Given the description of an element on the screen output the (x, y) to click on. 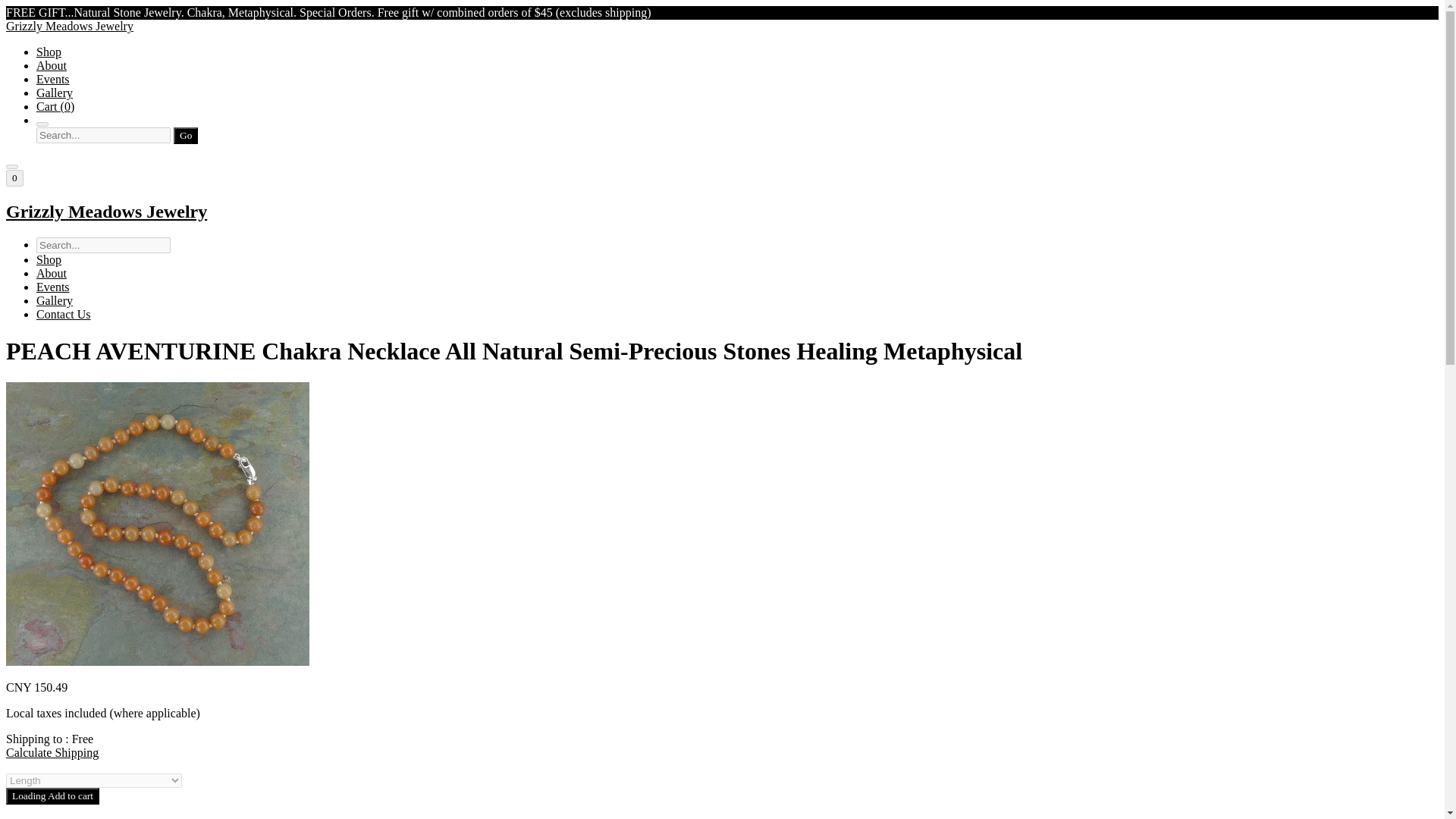
Shop (48, 51)
Shop (48, 259)
Loading Add to cart (52, 795)
Go (185, 135)
Events (52, 286)
0 (14, 177)
Events (52, 78)
About (51, 65)
About (51, 273)
Go (185, 135)
Calculate Shipping (52, 752)
Gallery (54, 300)
Contact Us (63, 314)
Gallery (54, 92)
